Given the description of an element on the screen output the (x, y) to click on. 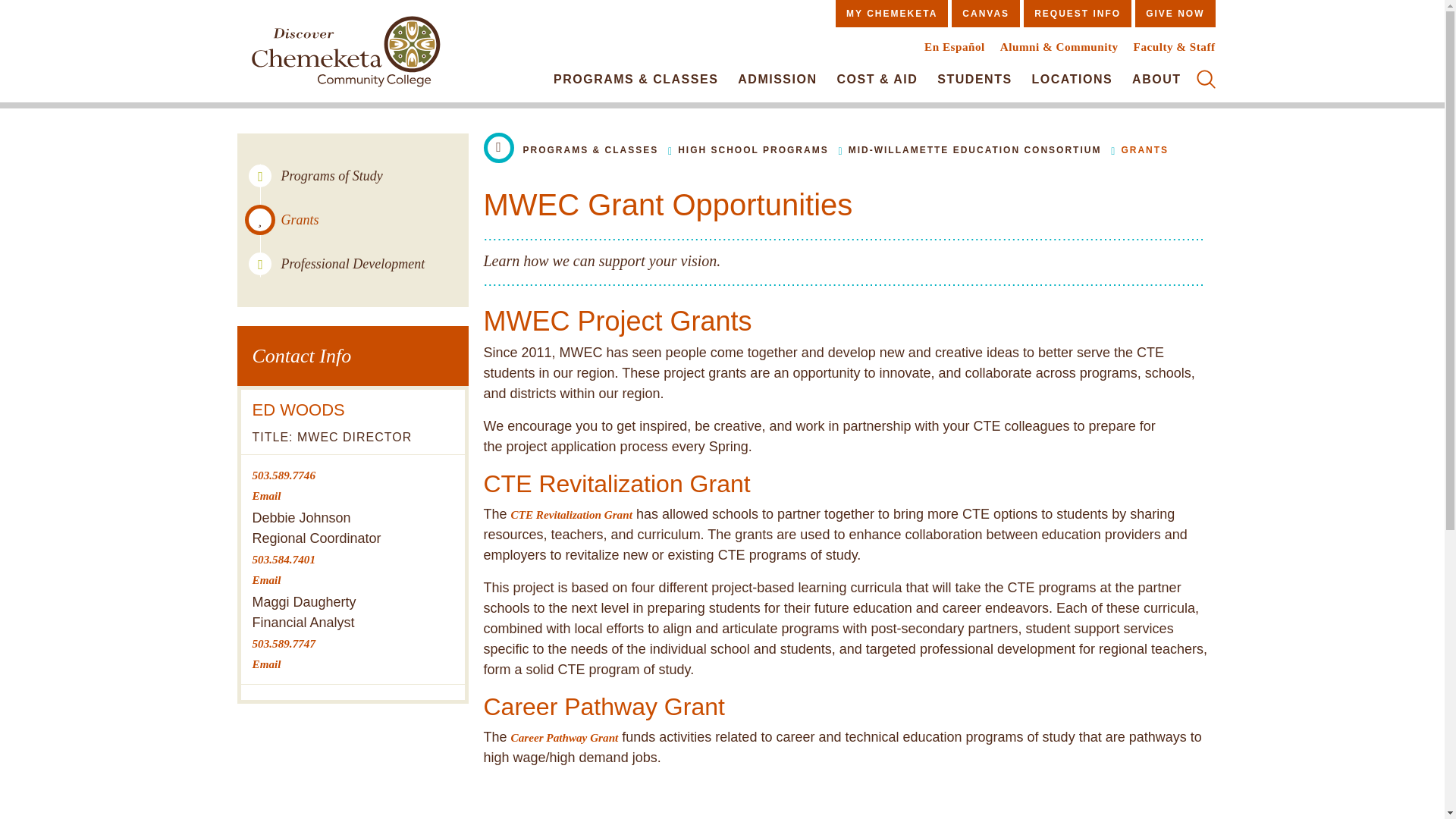
STUDENTS (974, 79)
50 Years at Chemeketa Community College (344, 54)
DISCOVER CHEMEKETA COMMUNITY COLLEGE (344, 54)
ADMISSION (777, 79)
